Given the description of an element on the screen output the (x, y) to click on. 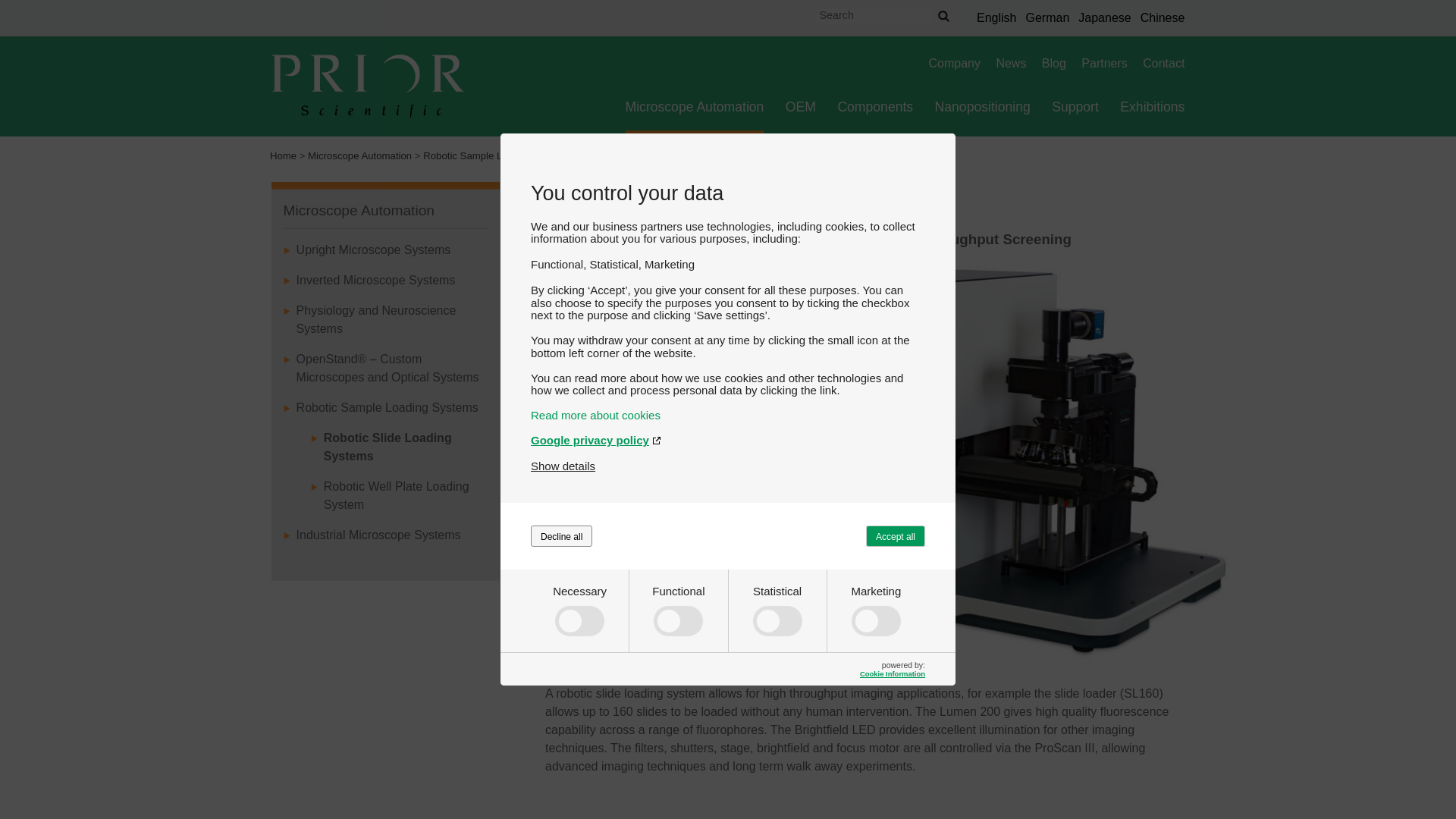
Show details (563, 465)
Google privacy policy (727, 440)
Read more about cookies (727, 414)
